Given the description of an element on the screen output the (x, y) to click on. 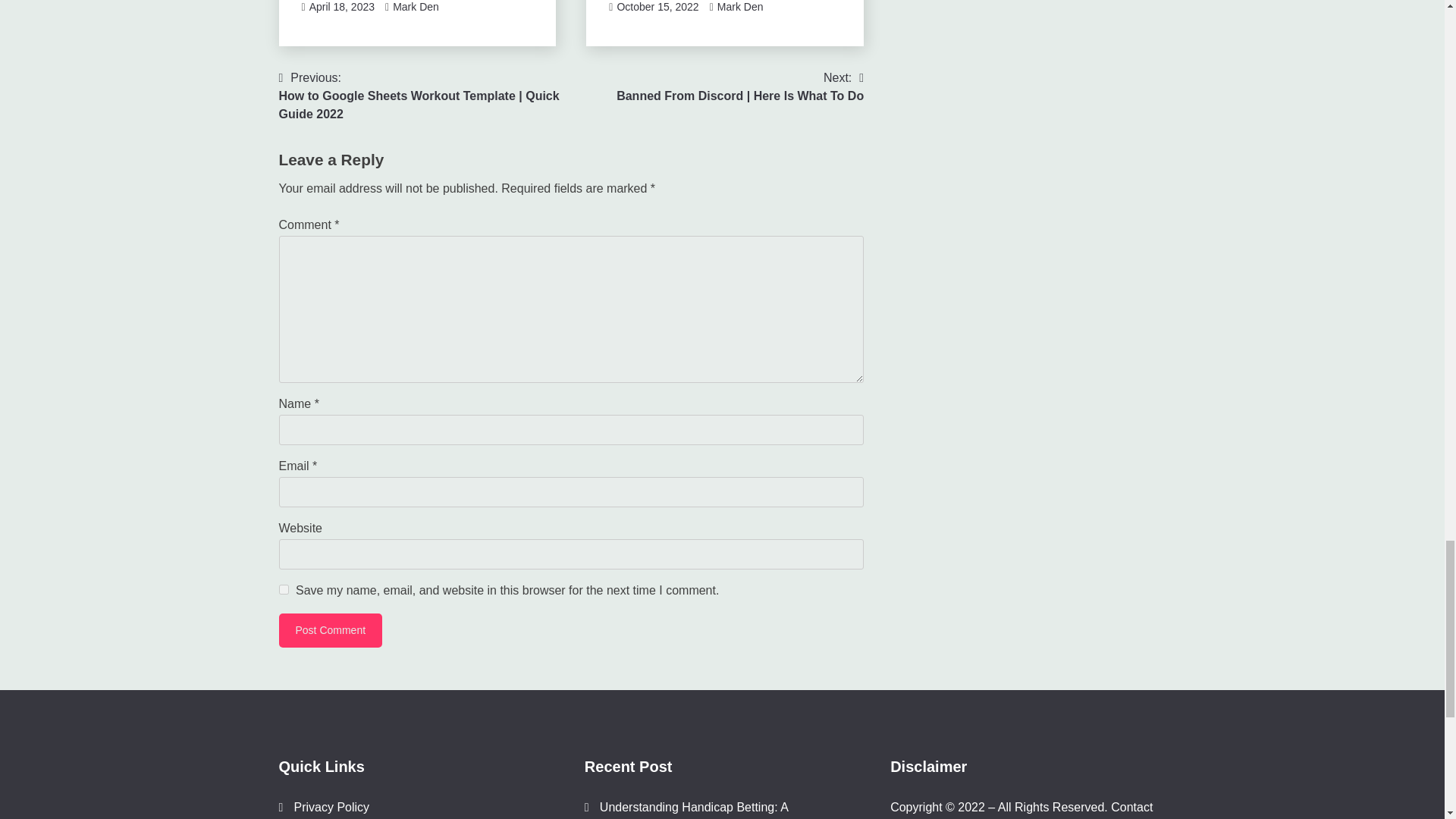
Post Comment (330, 629)
Mark Den (416, 6)
yes (283, 588)
April 18, 2023 (341, 6)
